Given the description of an element on the screen output the (x, y) to click on. 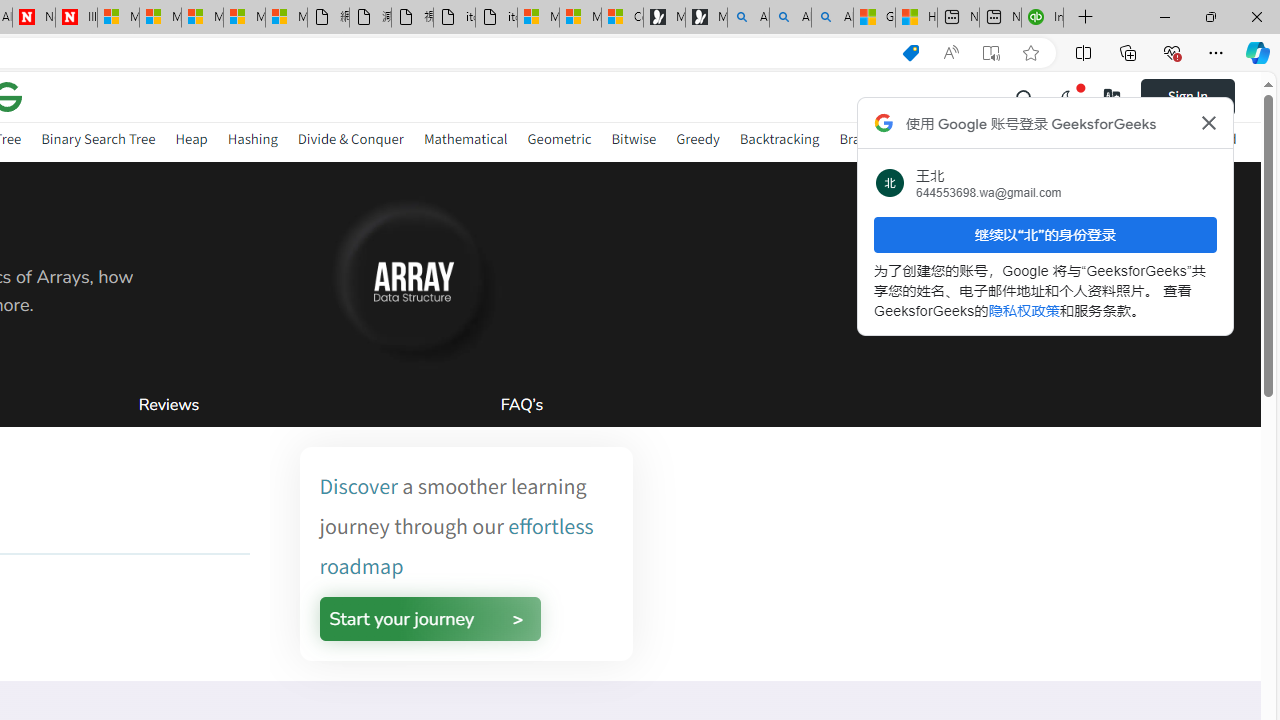
Branch and Bound (895, 142)
Sign In (1200, 96)
Backtracking (779, 142)
Bitwise (633, 142)
Consumer Health Data Privacy Policy (621, 17)
Sign In (1187, 96)
